Given the description of an element on the screen output the (x, y) to click on. 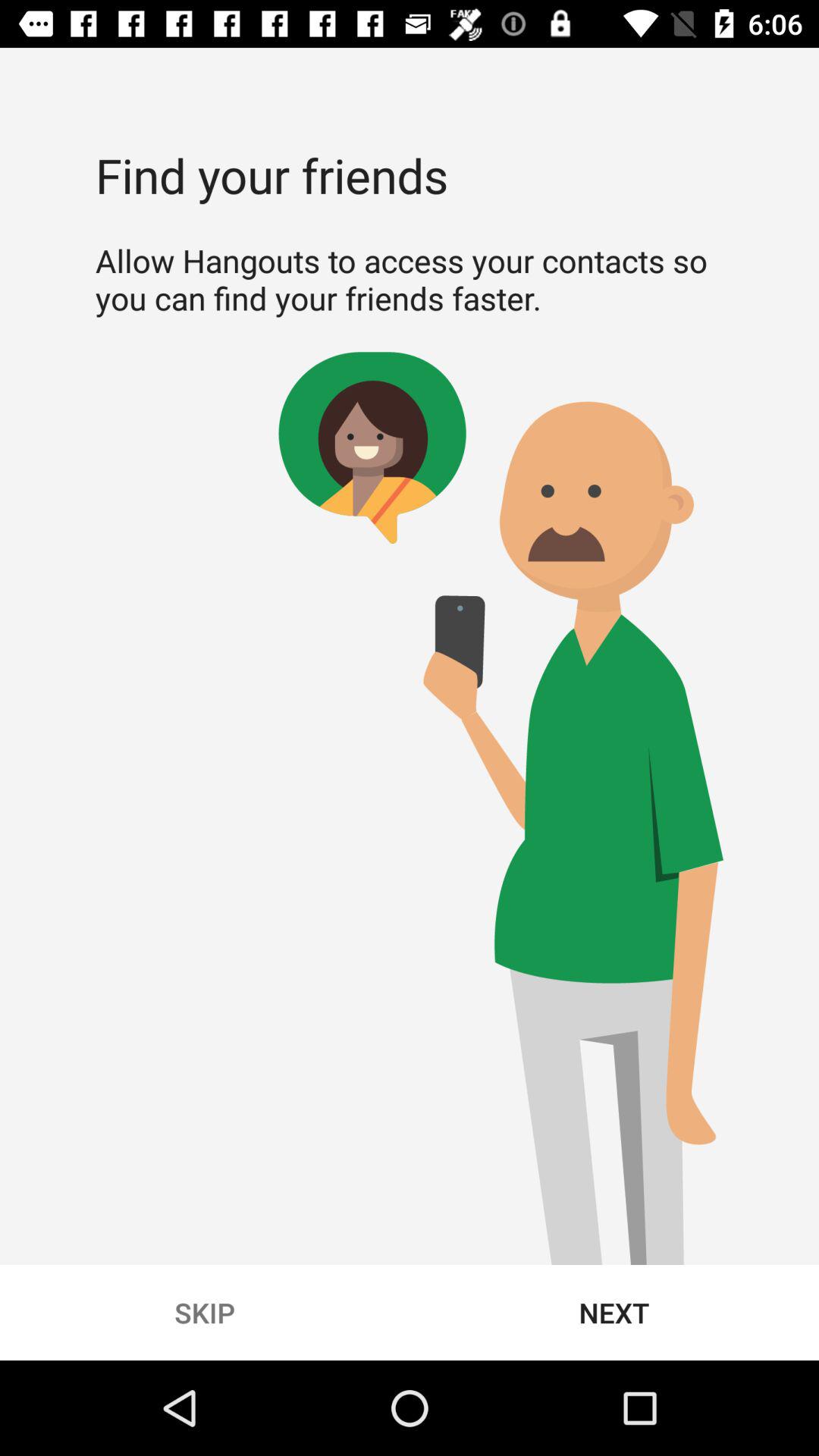
turn on the button next to next button (204, 1312)
